Given the description of an element on the screen output the (x, y) to click on. 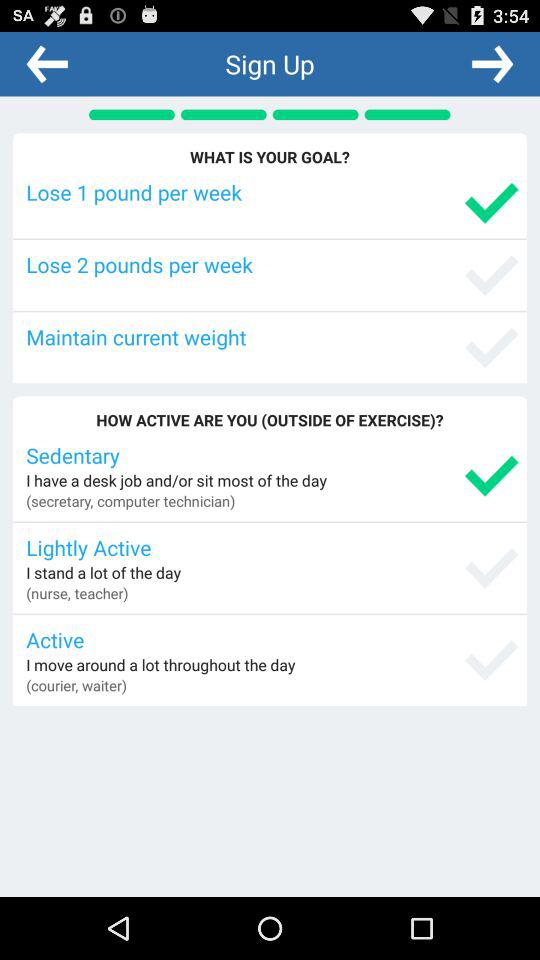
flip until the (secretary, computer technician) icon (130, 500)
